Given the description of an element on the screen output the (x, y) to click on. 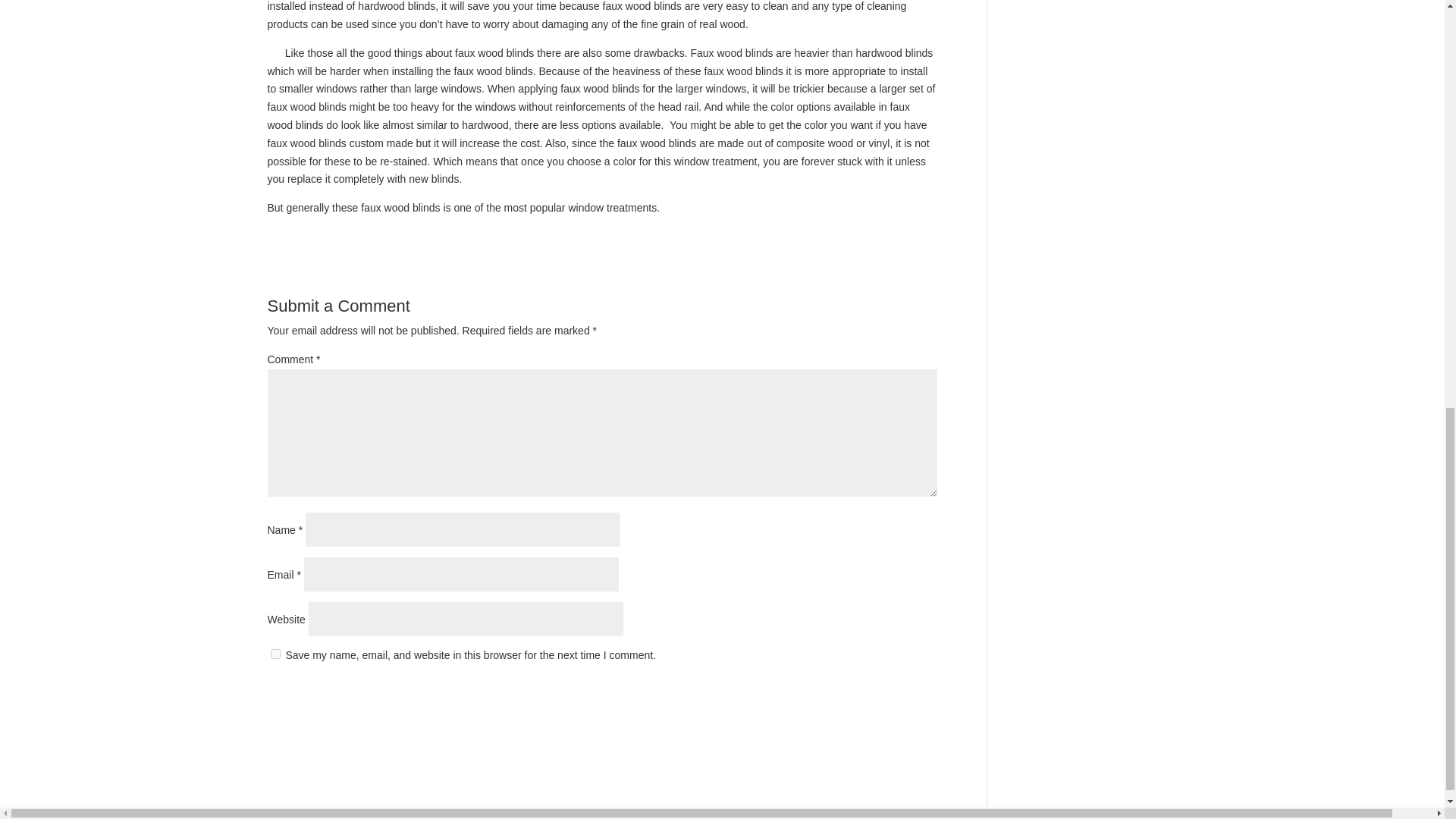
Submit Comment (862, 694)
Submit Comment (862, 694)
yes (274, 654)
